Given the description of an element on the screen output the (x, y) to click on. 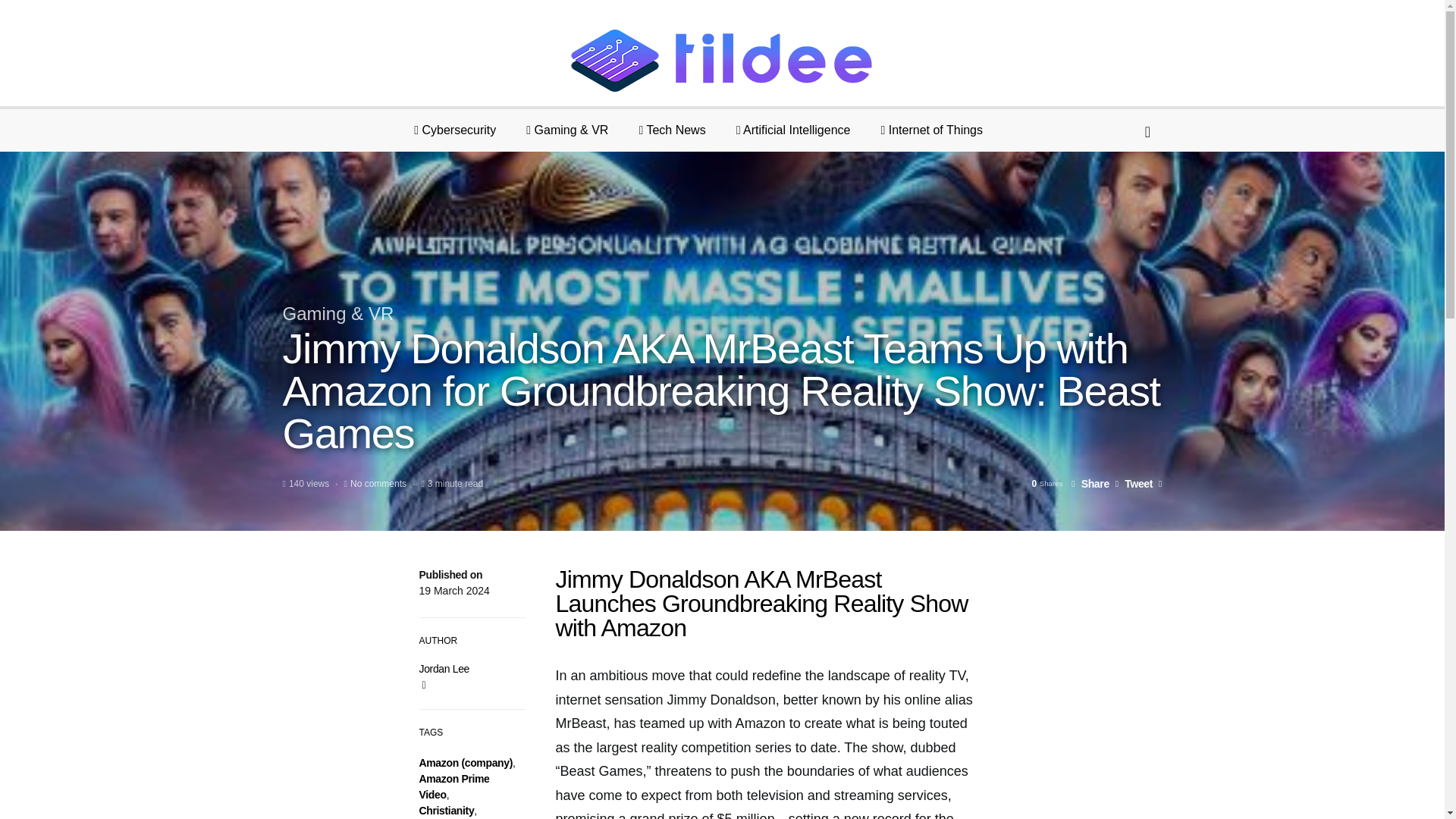
Amazon Prime Video (454, 786)
Tweet (1134, 483)
Jordan Lee (443, 668)
No comments (378, 483)
Christianity (446, 810)
Share (1090, 483)
